Given the description of an element on the screen output the (x, y) to click on. 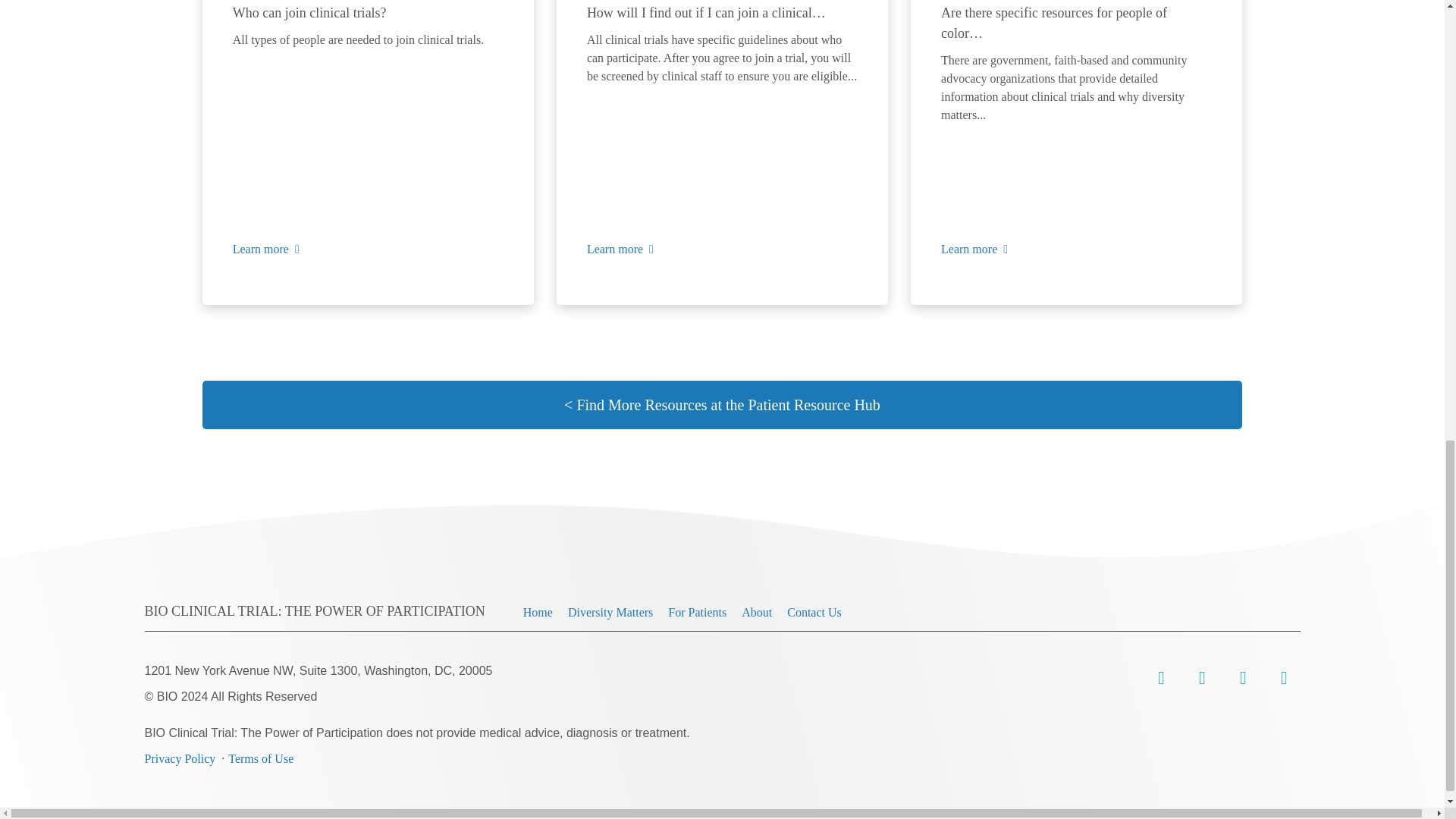
Learn more (619, 248)
Learn more (973, 248)
Learn more (265, 248)
